Given the description of an element on the screen output the (x, y) to click on. 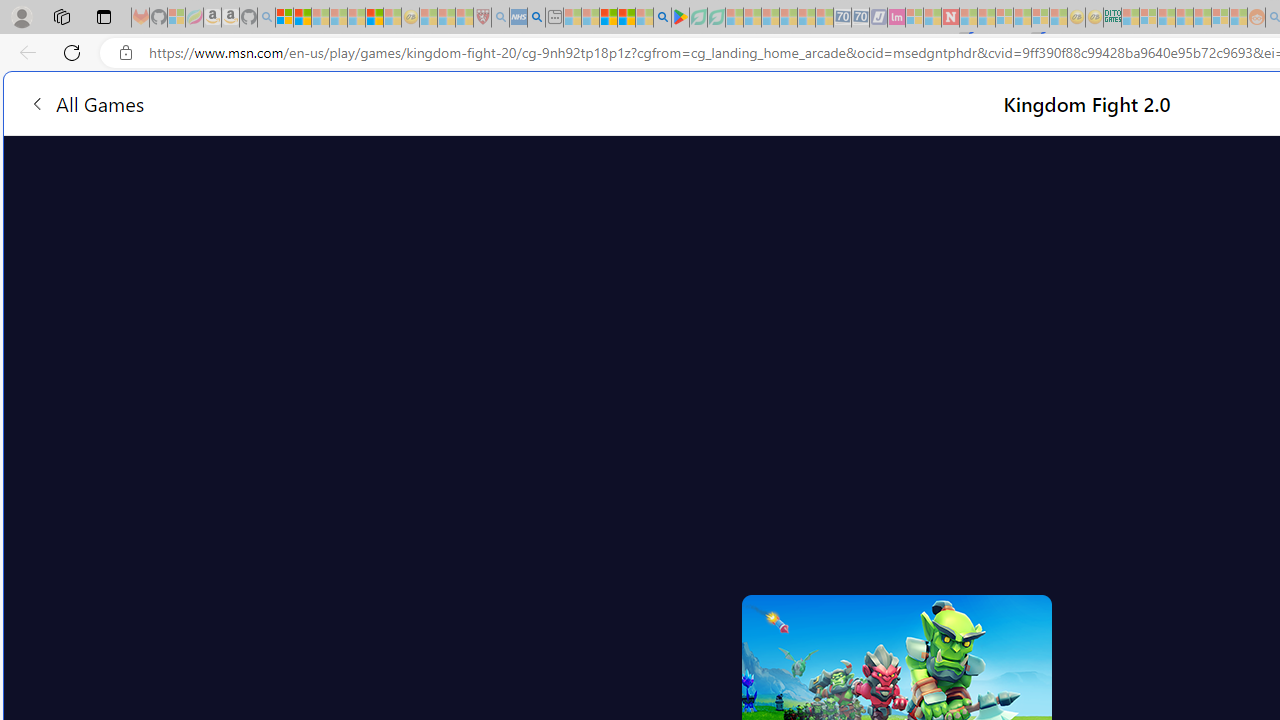
Jobs - lastminute.com Investor Portal - Sleeping (896, 17)
Pets - MSN (626, 17)
